Given the description of an element on the screen output the (x, y) to click on. 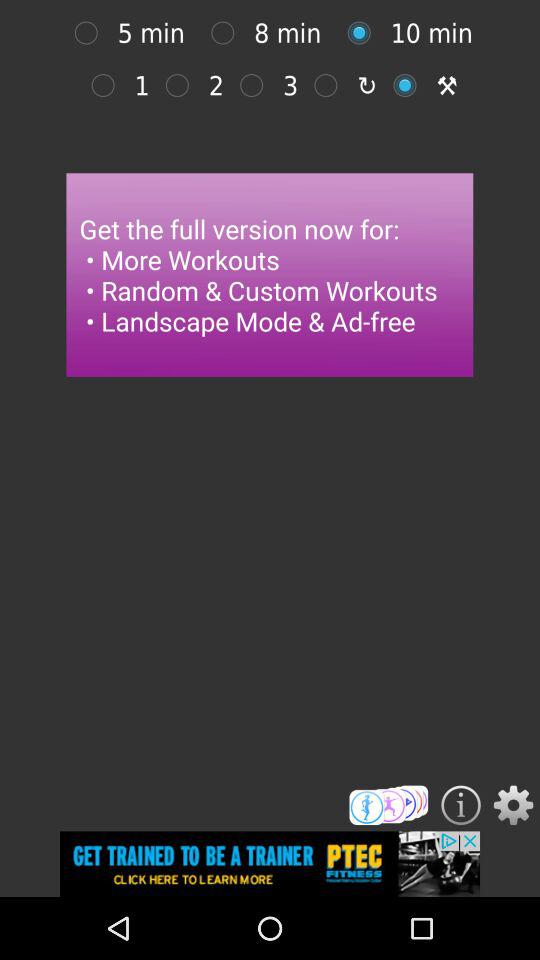
info (460, 805)
